Given the description of an element on the screen output the (x, y) to click on. 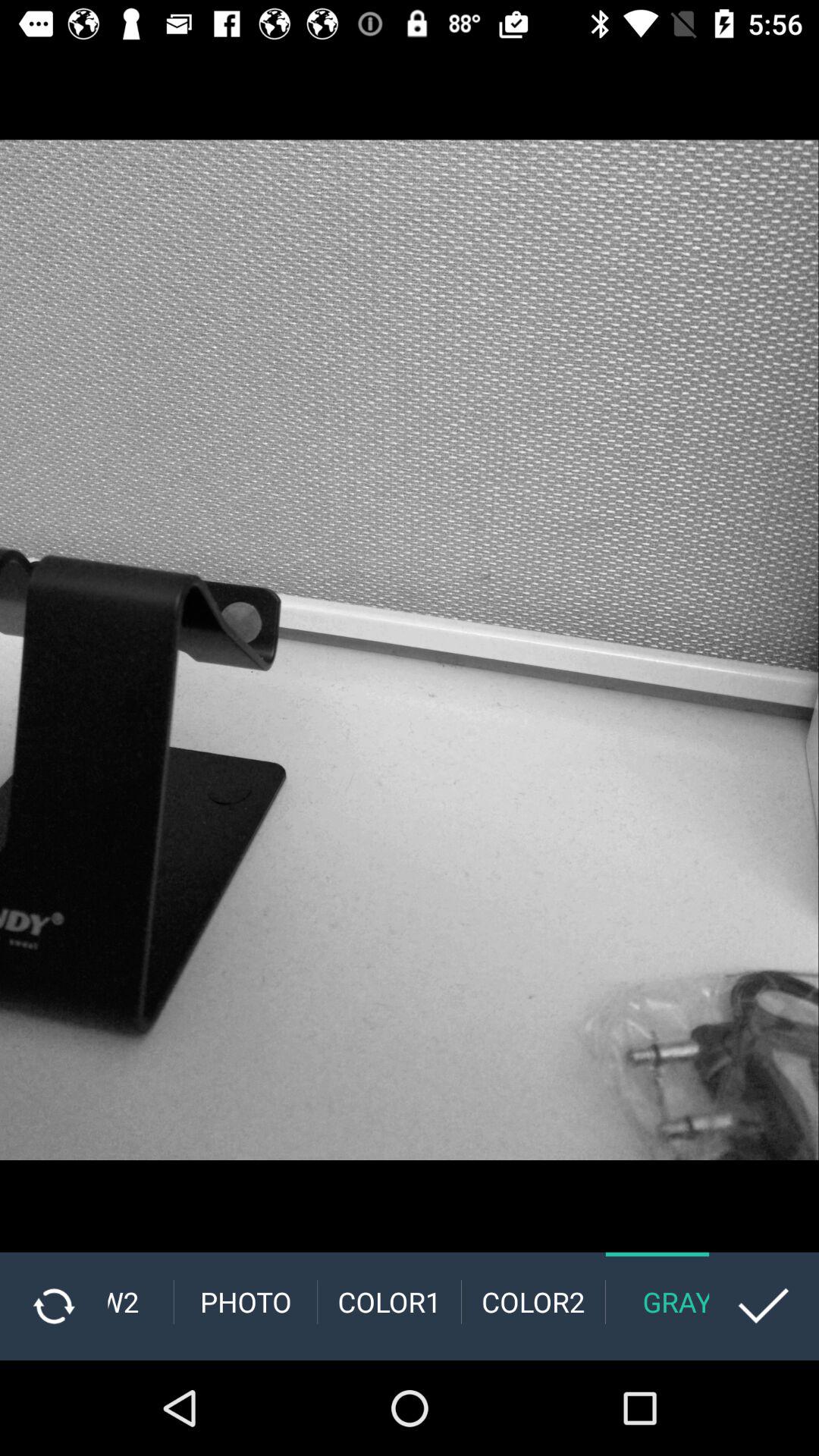
turn off the b&w2 item (140, 1301)
